Given the description of an element on the screen output the (x, y) to click on. 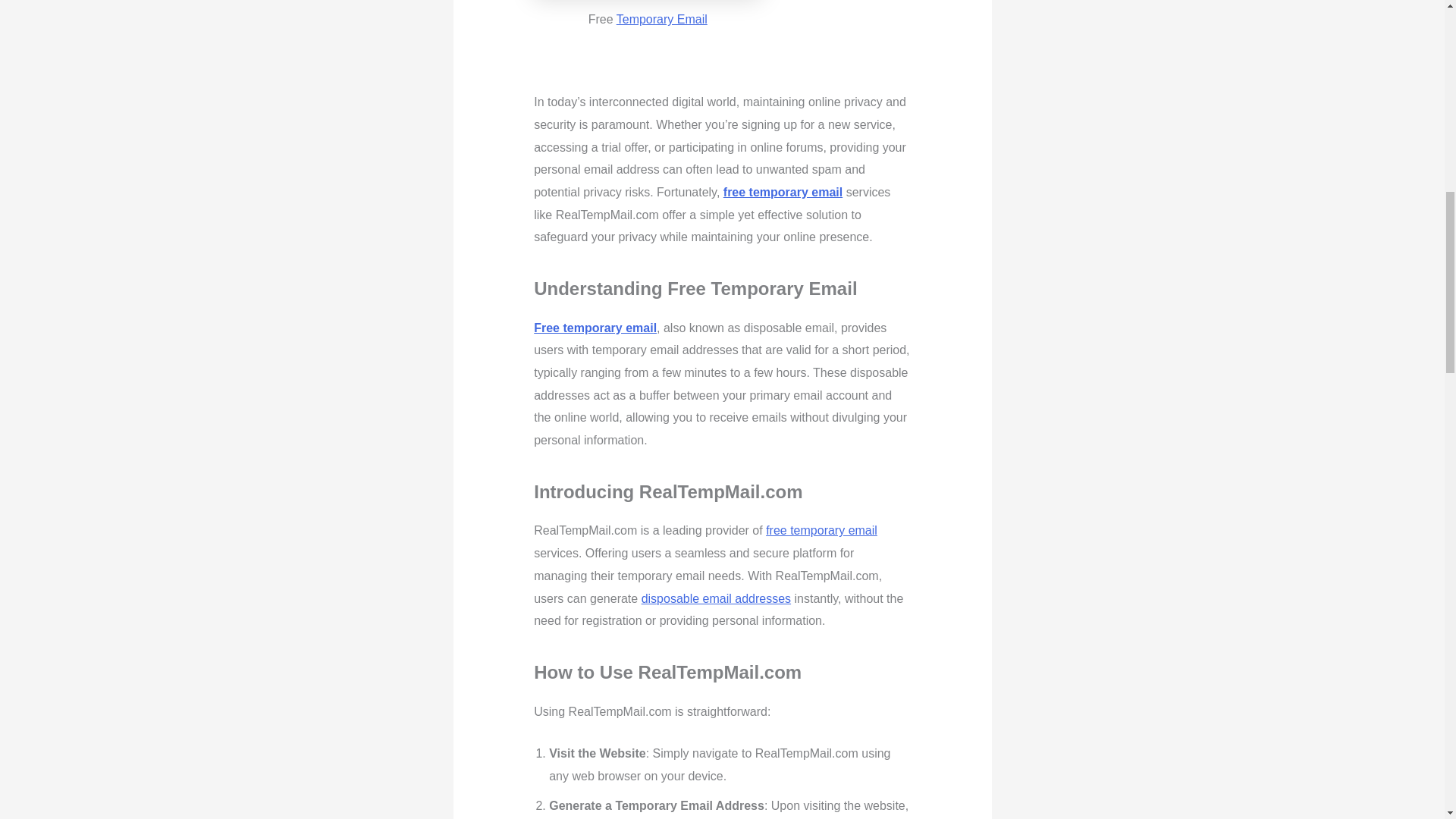
free temporary email (783, 192)
free temporary email (821, 530)
Free temporary email (595, 327)
Temporary Email (661, 19)
disposable email addresses (716, 598)
